Given the description of an element on the screen output the (x, y) to click on. 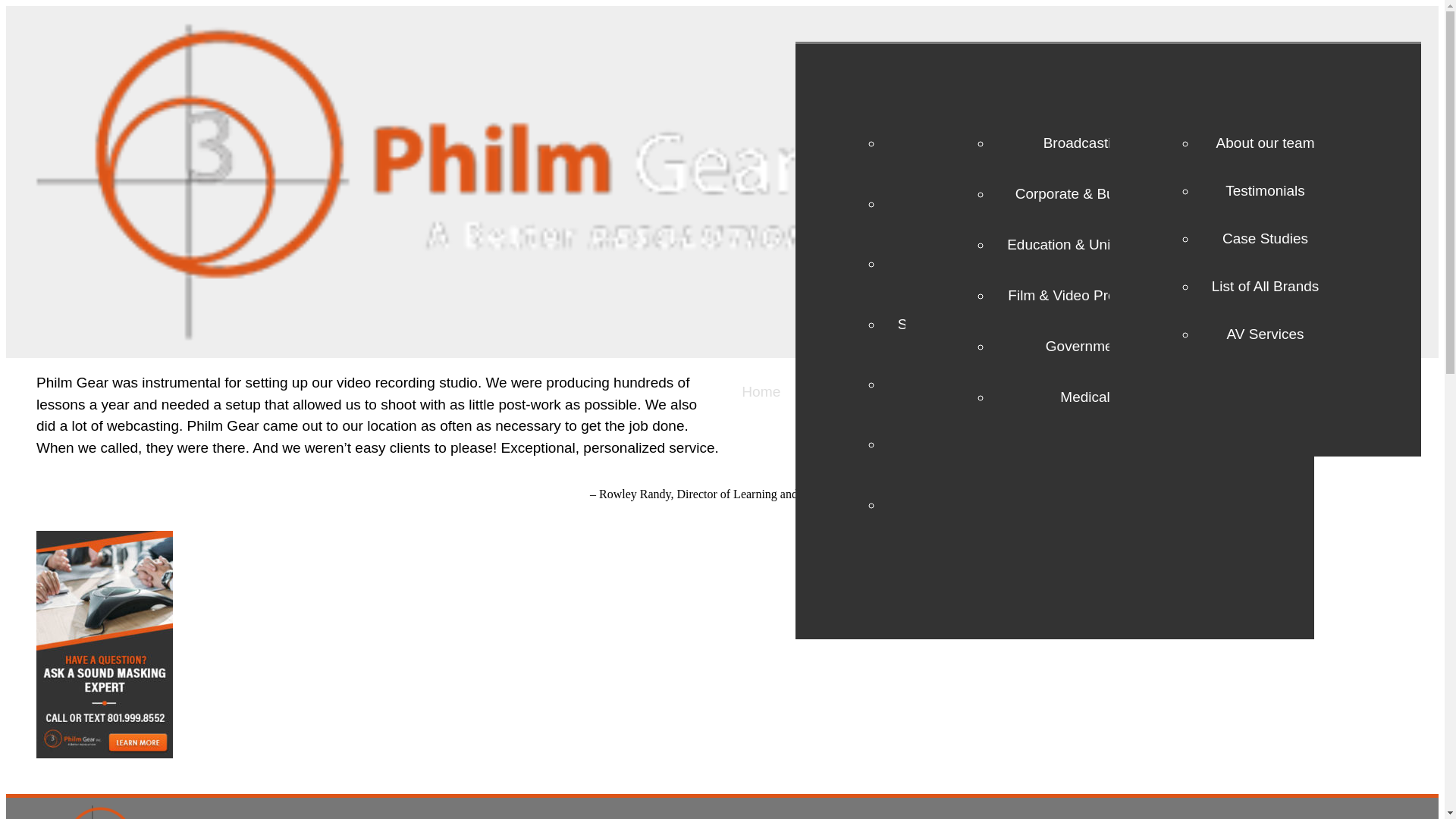
AV Rentals (1058, 391)
Conference and Board Room AV Solutions (1054, 142)
Conference and Board Room AV Solutions (1054, 142)
AV Solutions (847, 391)
AV Systems (956, 391)
Shared Storage, Asset Management and Archival (1054, 324)
Government (1084, 345)
AV Rentals (1058, 391)
Shared Storage, Asset Management and Archival (1054, 324)
Sound Masking Systems (1054, 263)
Live Event Streaming (1054, 443)
About (1140, 391)
Case Studies (1265, 238)
About our team (1265, 142)
List of All Brands (1265, 285)
